Given the description of an element on the screen output the (x, y) to click on. 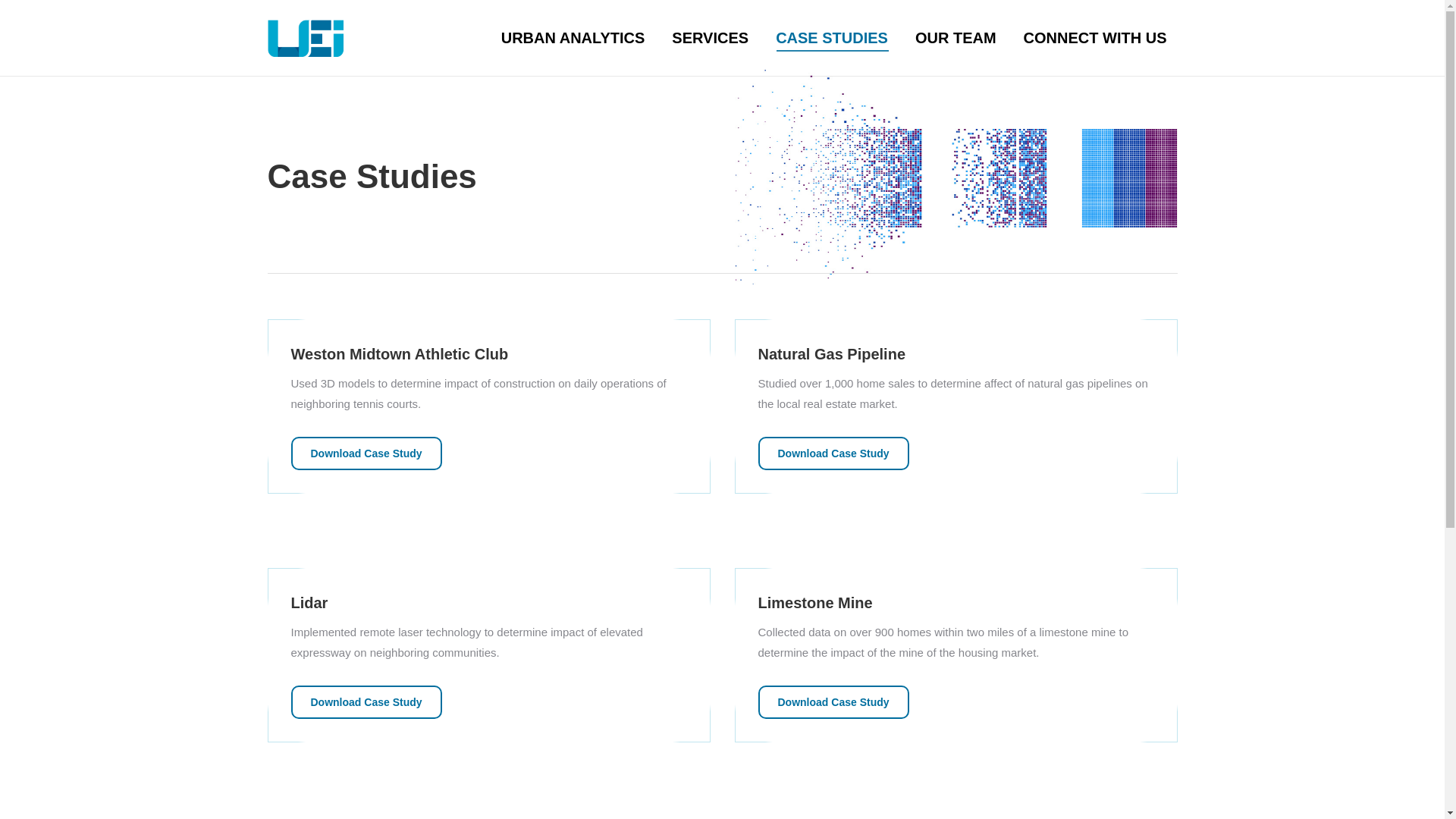
URBAN ANALYTICS (573, 37)
Download Case Study (366, 702)
Download Case Study (833, 702)
SERVICES (709, 37)
OUR TEAM (955, 37)
CASE STUDIES (831, 37)
Download Case Study (833, 453)
CONNECT WITH US (1095, 37)
Download Case Study (366, 453)
